Given the description of an element on the screen output the (x, y) to click on. 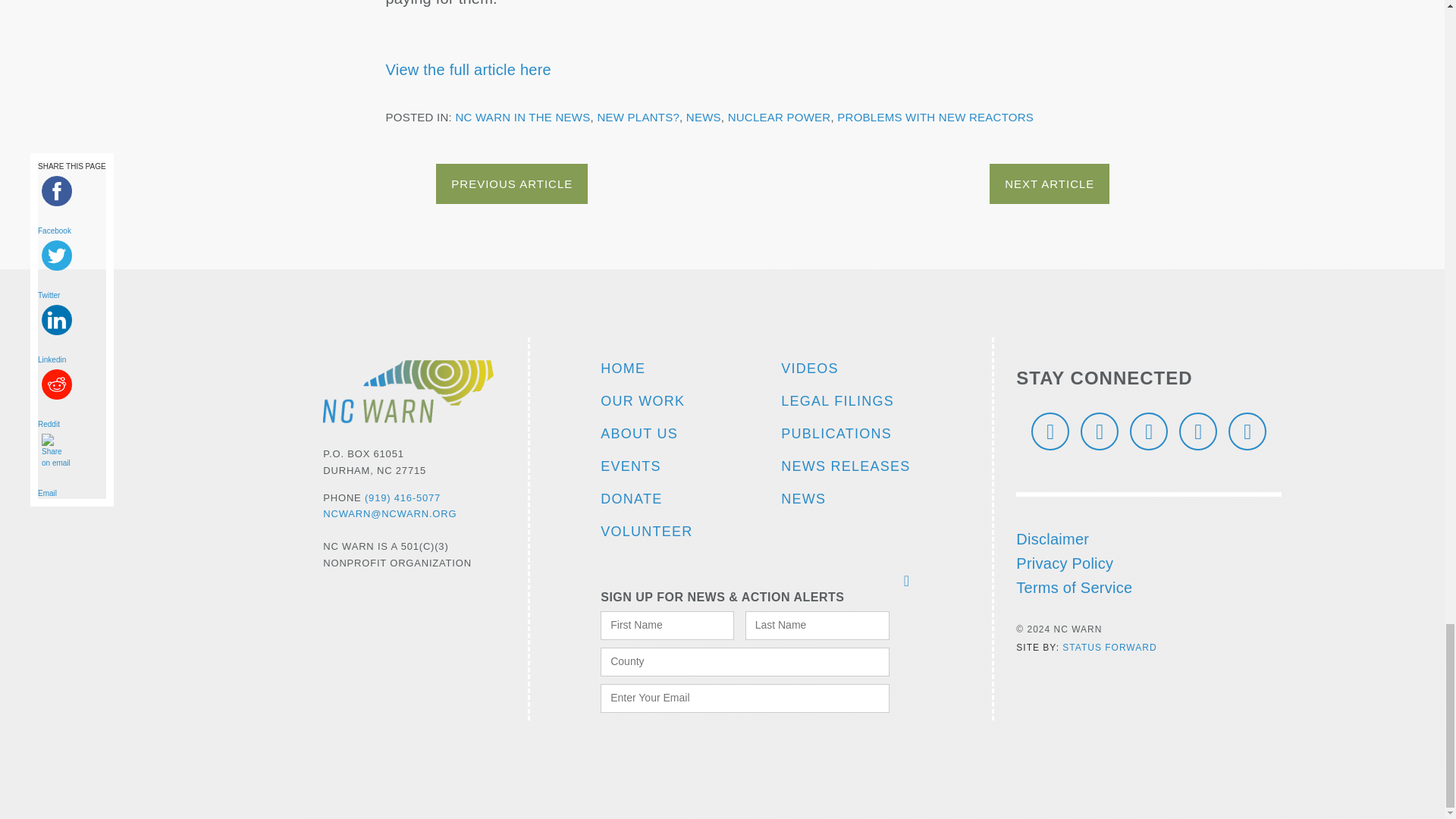
NEW PLANTS? (637, 116)
NEWS RELEASES (850, 466)
VIDEOS (850, 368)
Twitter (71, 294)
OUR WORK (659, 400)
NEWS (850, 499)
email (56, 450)
Reddit (71, 424)
Follow us on LinkedIn (1099, 431)
DONATE (659, 499)
